Given the description of an element on the screen output the (x, y) to click on. 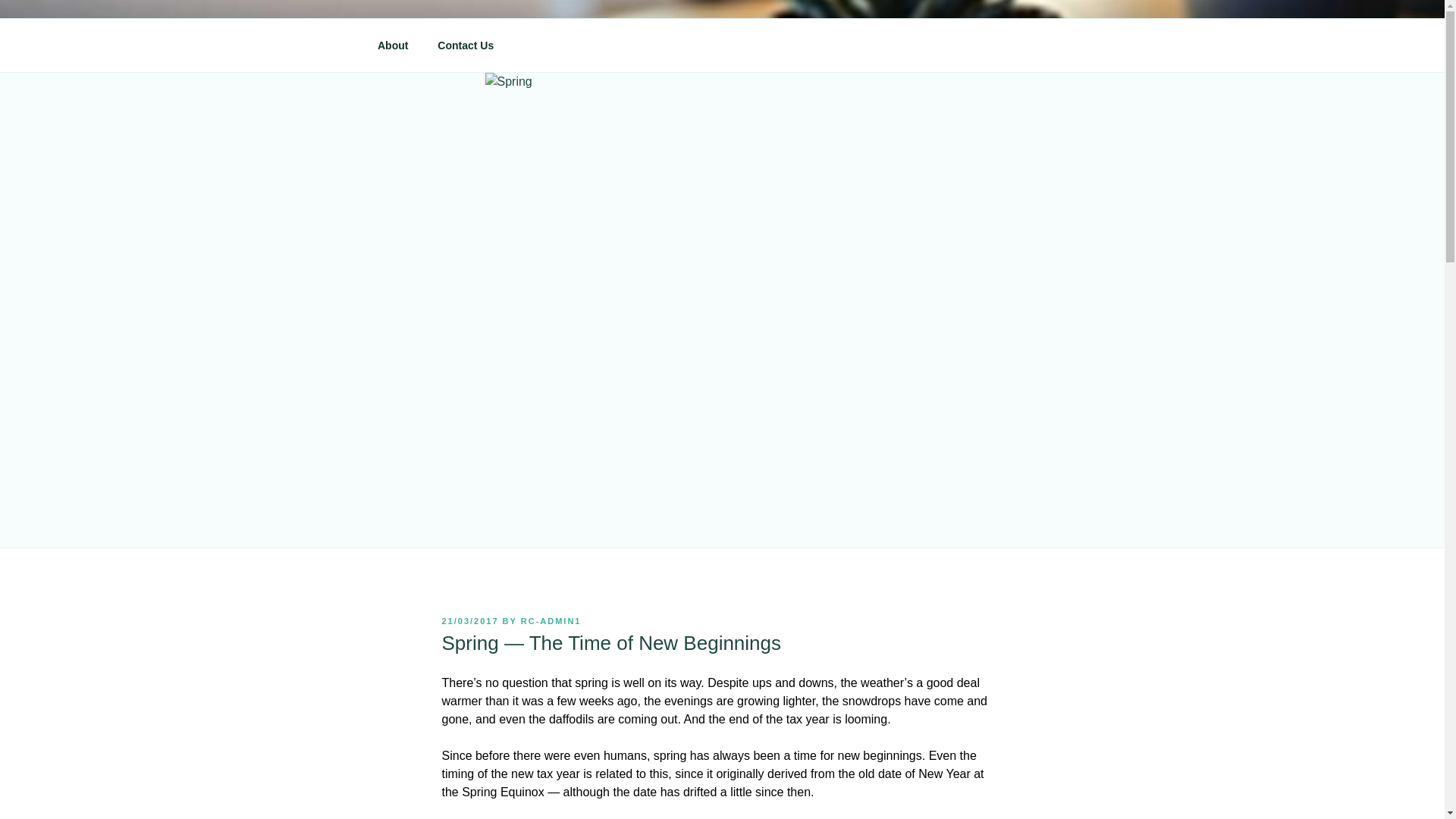
RC-ADMIN1 (550, 620)
About (392, 45)
Contact Us (465, 45)
